Given the description of an element on the screen output the (x, y) to click on. 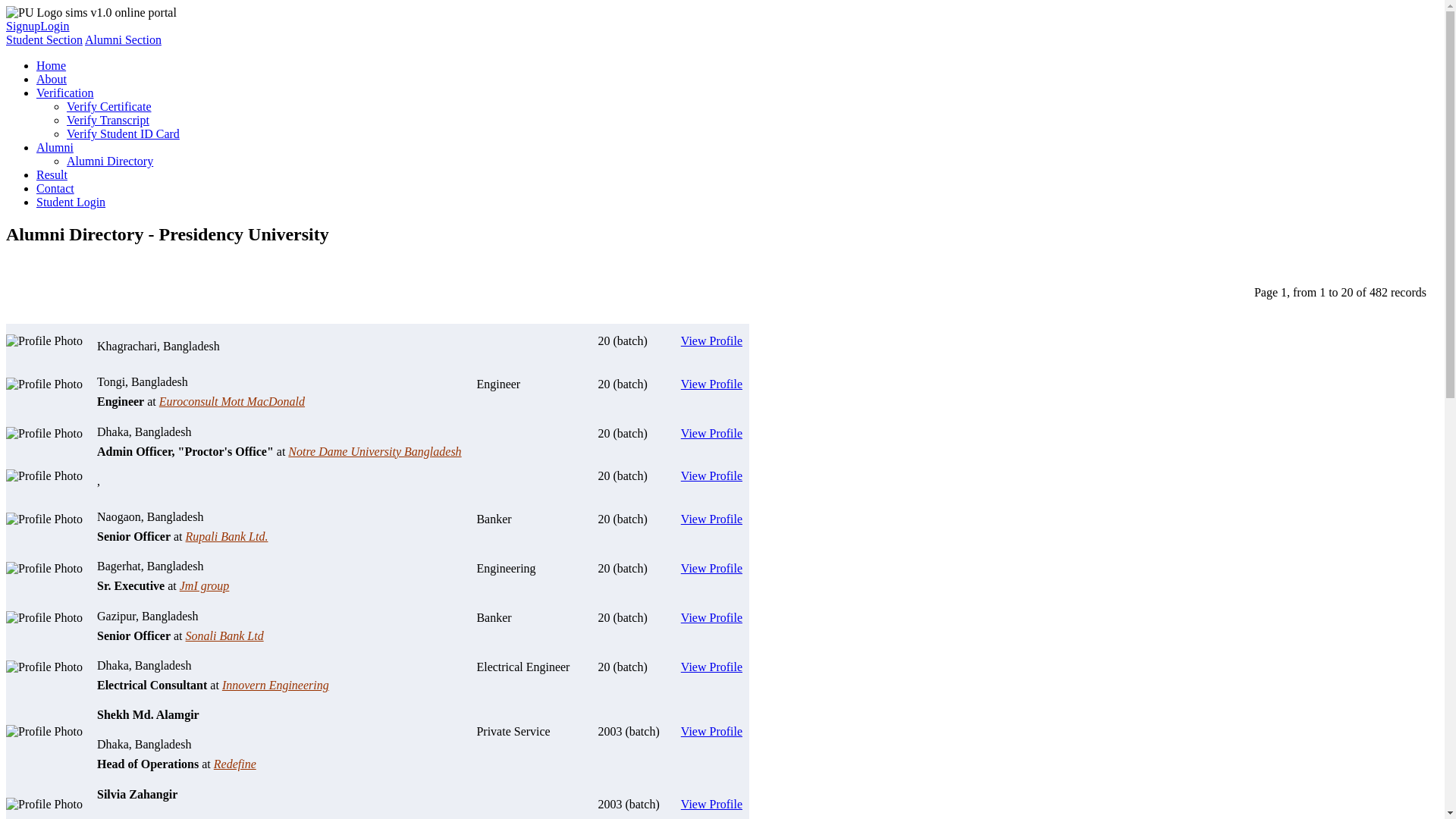
Signup Element type: text (23, 25)
View Profile Element type: text (711, 803)
View Profile Element type: text (711, 518)
Result Element type: text (51, 174)
Verify Student ID Card Element type: text (122, 133)
Notre Dame University Bangladesh Element type: text (374, 451)
Alumni Element type: text (54, 147)
Verify Transcript Element type: text (107, 119)
Login Element type: text (54, 25)
Euroconsult Mott MacDonald Element type: text (231, 401)
JmI group Element type: text (204, 585)
Rupali Bank Ltd. Element type: text (226, 536)
Contact Element type: text (55, 188)
Sonali Bank Ltd Element type: text (224, 635)
View Profile Element type: text (711, 730)
About Element type: text (51, 78)
Redefine Element type: text (234, 763)
Verification Element type: text (65, 92)
Student Login Element type: text (70, 201)
Alumni Section Element type: text (122, 39)
View Profile Element type: text (711, 340)
View Profile Element type: text (711, 432)
Alumni Directory Element type: text (109, 160)
View Profile Element type: text (711, 475)
View Profile Element type: text (711, 617)
View Profile Element type: text (711, 666)
Presidency University Element type: hover (34, 12)
View Profile Element type: text (711, 383)
Verify Certificate Element type: text (108, 106)
View Profile Element type: text (711, 567)
Student Section Element type: text (44, 39)
Innovern Engineering Element type: text (275, 684)
Home Element type: text (50, 65)
